Given the description of an element on the screen output the (x, y) to click on. 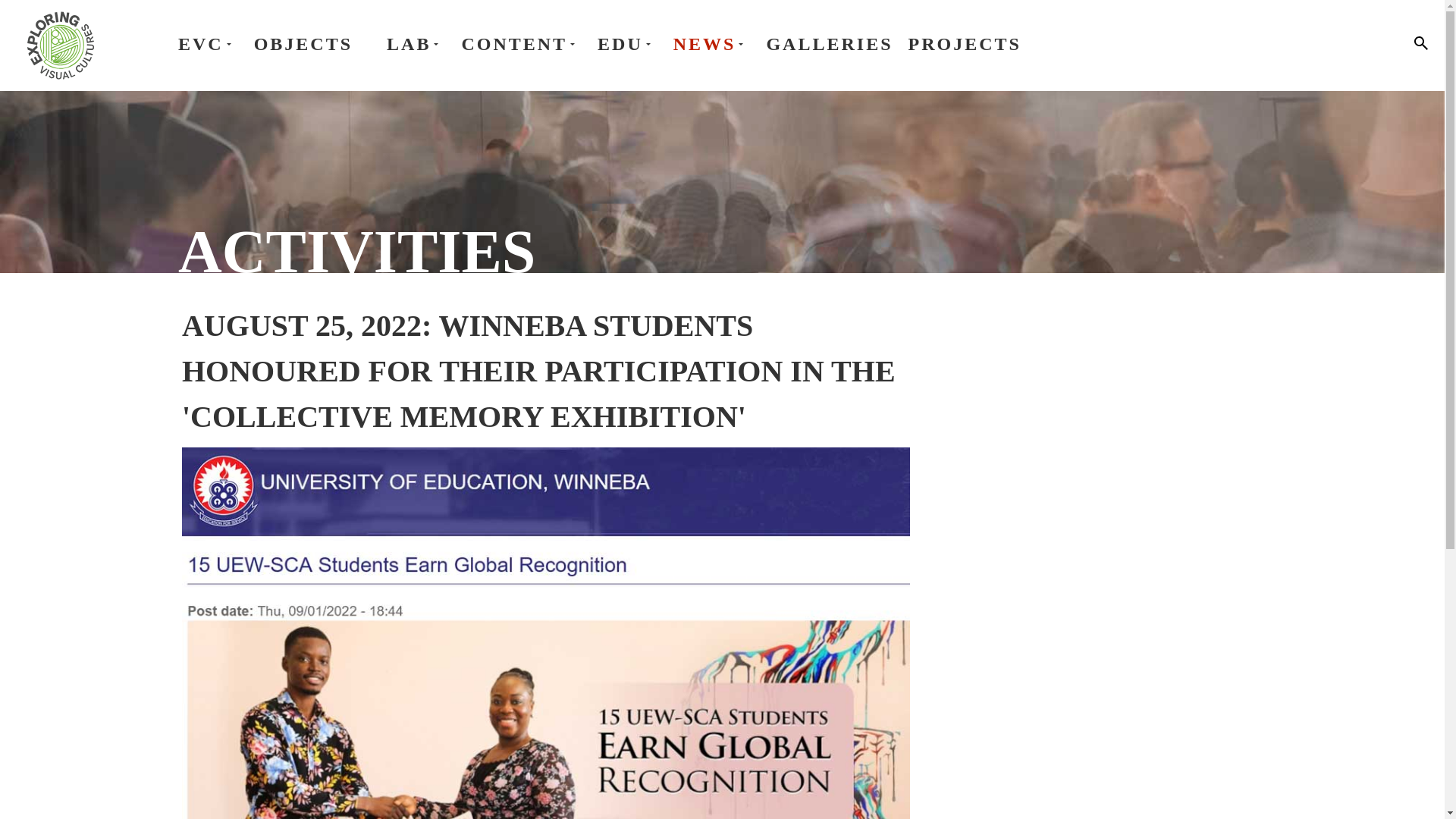
EVC (207, 43)
PROJECTS (965, 43)
NEWS (711, 43)
OBJECTS (302, 43)
CONTENT (521, 43)
GALLERIES (828, 43)
EDU (627, 43)
exploring visual cultures (60, 45)
LAB (416, 43)
